Given the description of an element on the screen output the (x, y) to click on. 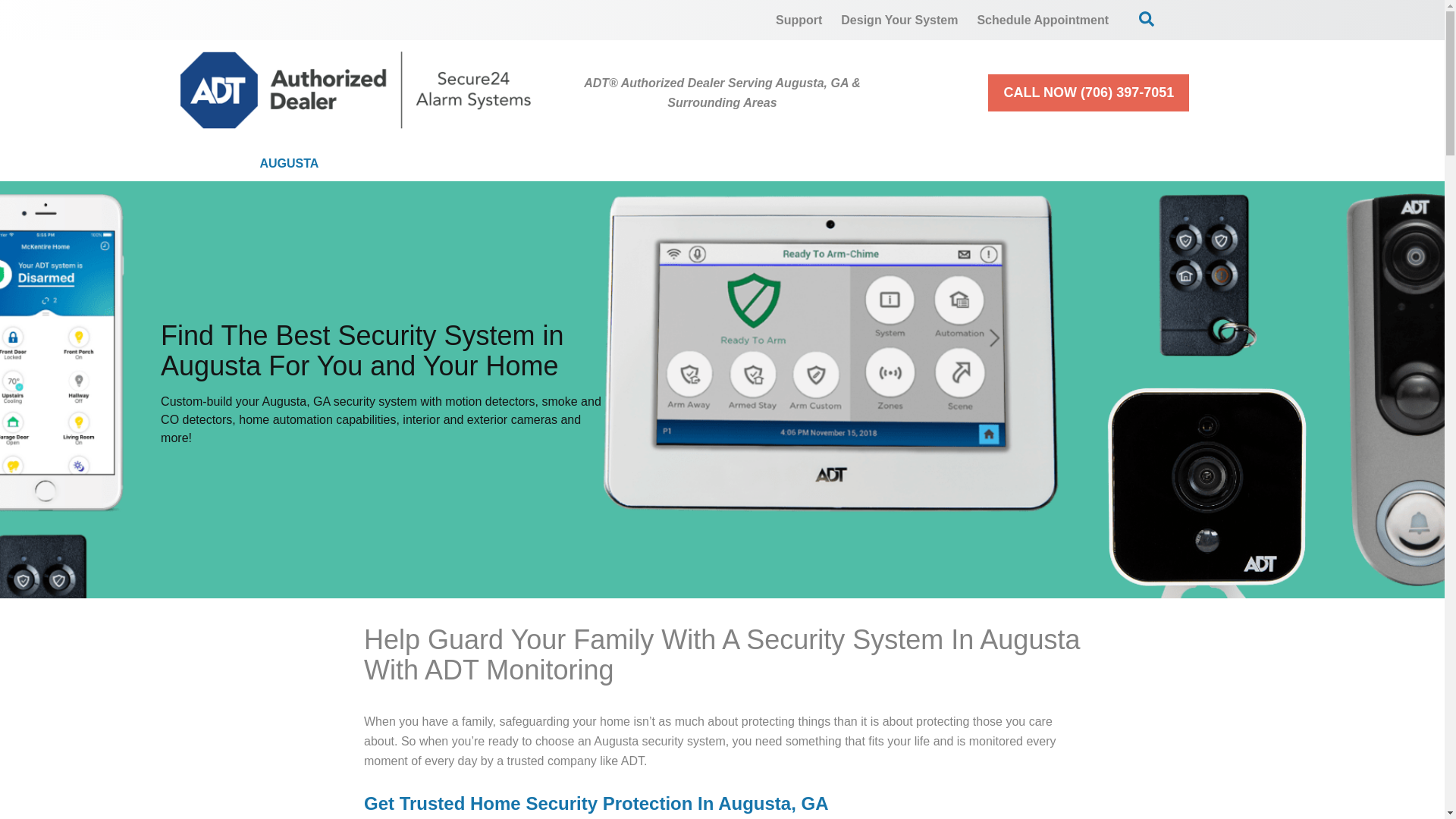
Home Security (436, 163)
Schedule Appointment (1042, 20)
Cameras (588, 163)
Secure24 Alarm Systems Home (355, 89)
Design Your System (898, 20)
Home Automation (749, 163)
Open Search (1146, 18)
Support (798, 20)
